Given the description of an element on the screen output the (x, y) to click on. 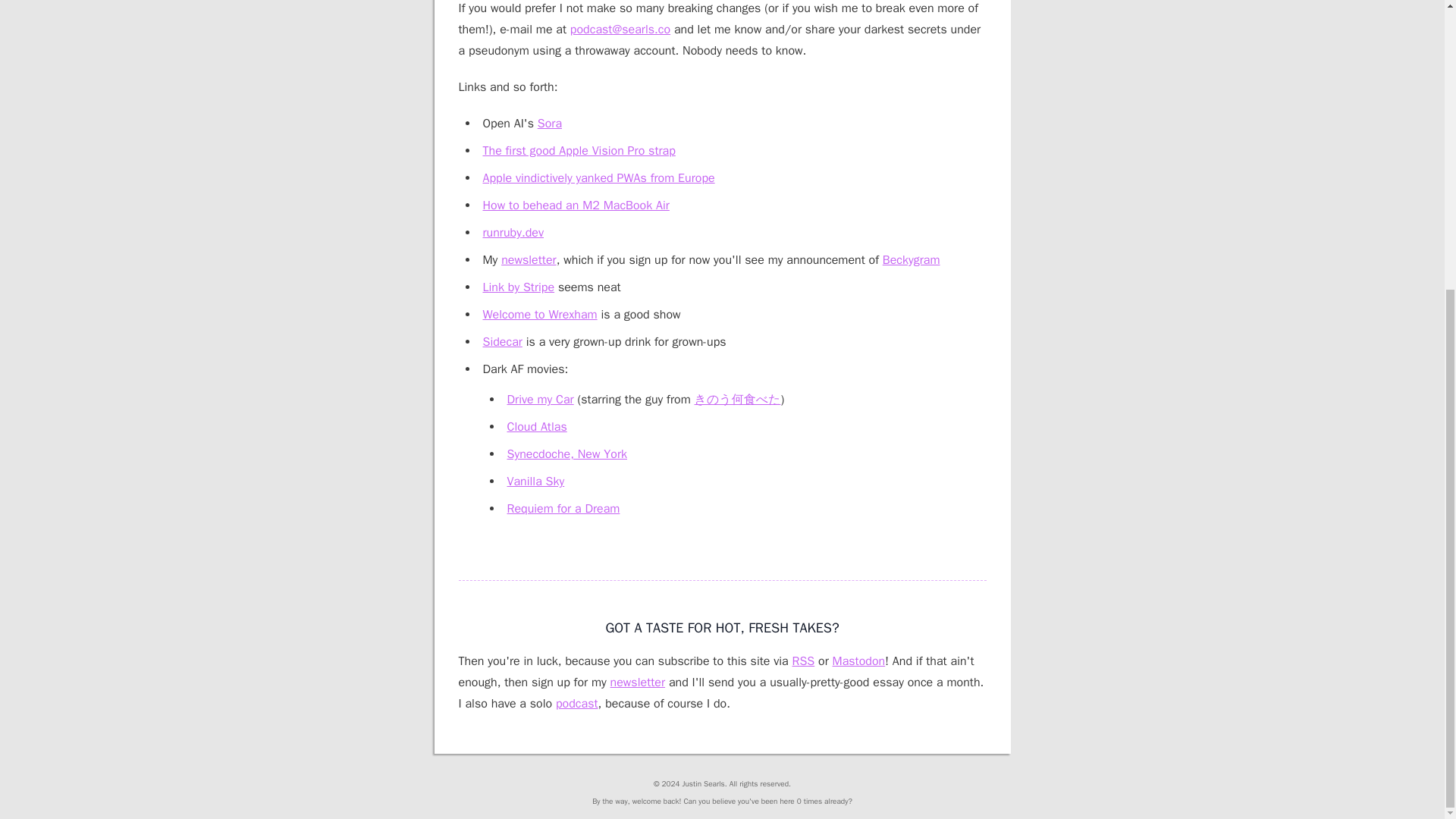
runruby.dev (512, 232)
Apple vindictively yanked PWAs from Europe (597, 177)
Beckygram (911, 259)
How to behead an M2 MacBook Air (574, 205)
The first good Apple Vision Pro strap (578, 150)
newsletter (528, 259)
Sora (549, 123)
